Given the description of an element on the screen output the (x, y) to click on. 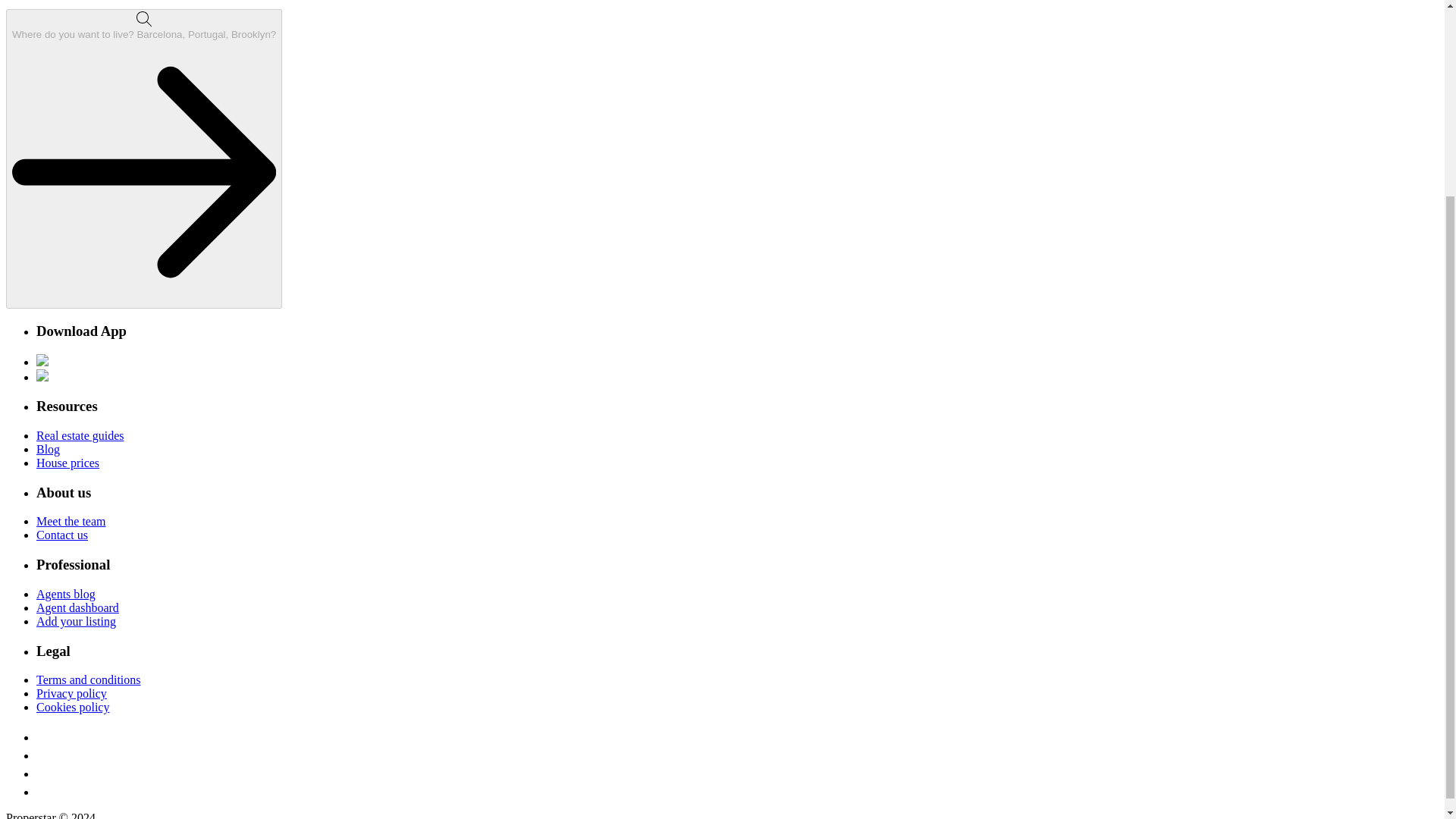
Agents blog (66, 594)
Contact us (61, 534)
House prices (67, 462)
Agent dashboard (77, 607)
Privacy policy (71, 693)
Meet the team (71, 521)
Where do you want to live? Barcelona, Portugal, Brooklyn? (143, 158)
Add your listing (76, 621)
Real estate guides (79, 435)
Terms and conditions (88, 679)
